Given the description of an element on the screen output the (x, y) to click on. 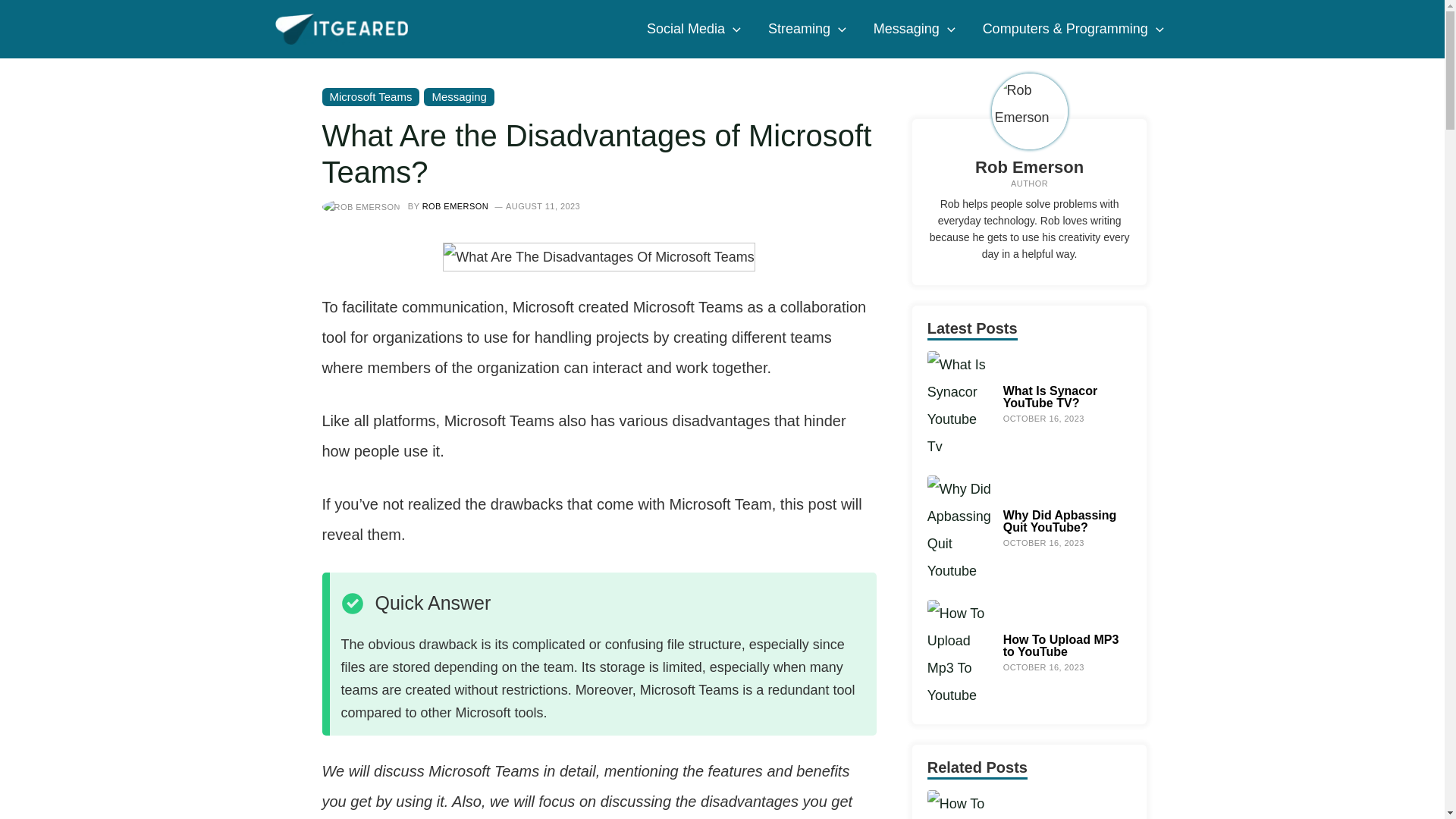
Social Media (693, 28)
Messaging (914, 28)
Streaming (807, 28)
